Given the description of an element on the screen output the (x, y) to click on. 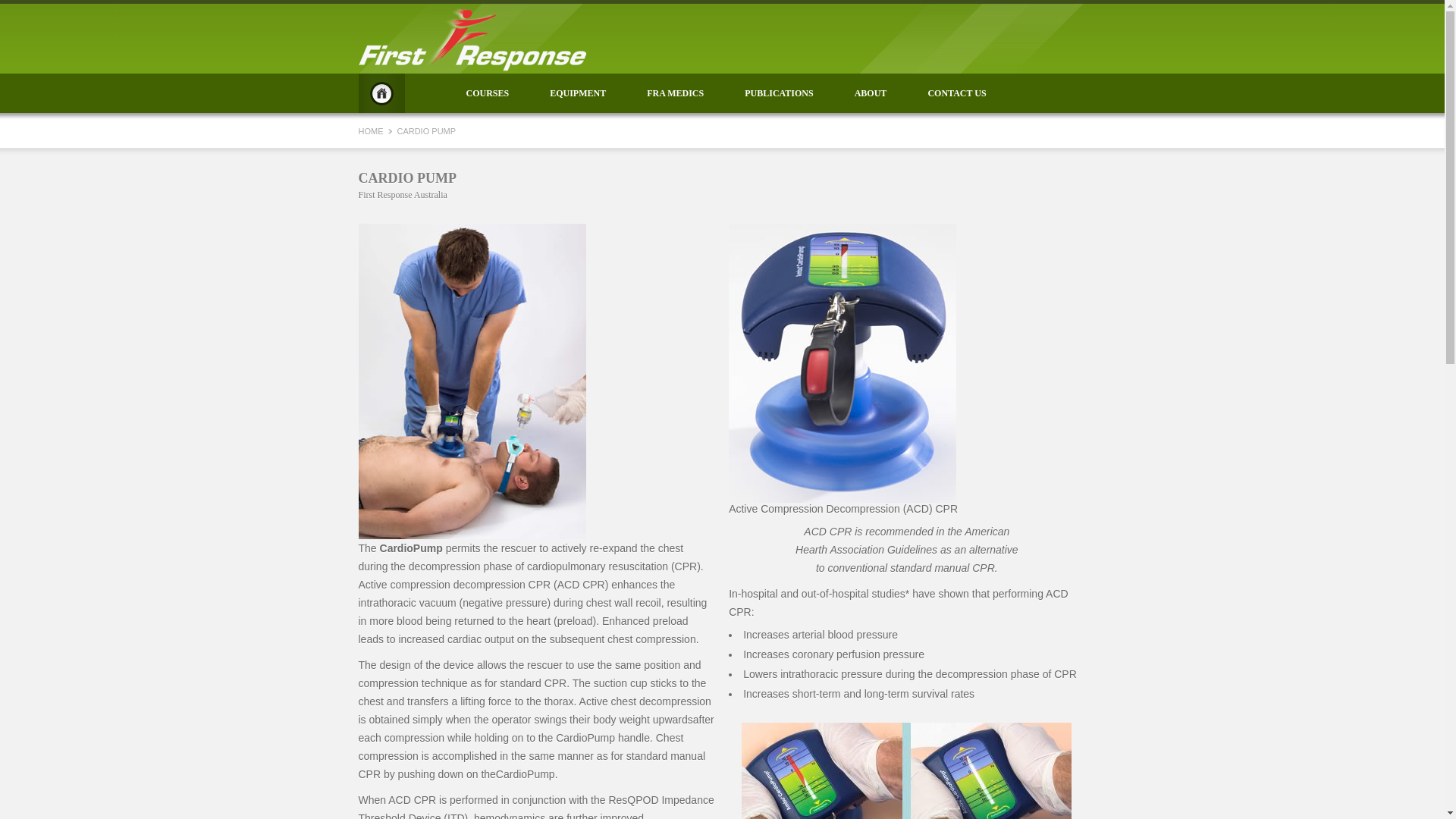
FRA MEDICS Element type: text (675, 92)
PUBLICATIONS Element type: text (778, 92)
Cardio Pump Element type: hover (471, 381)
EQUIPMENT Element type: text (577, 92)
ABOUT Element type: text (870, 92)
COURSES Element type: text (487, 92)
HOME Element type: text (380, 92)
HOME Element type: text (371, 130)
CONTACT US Element type: text (956, 92)
